Given the description of an element on the screen output the (x, y) to click on. 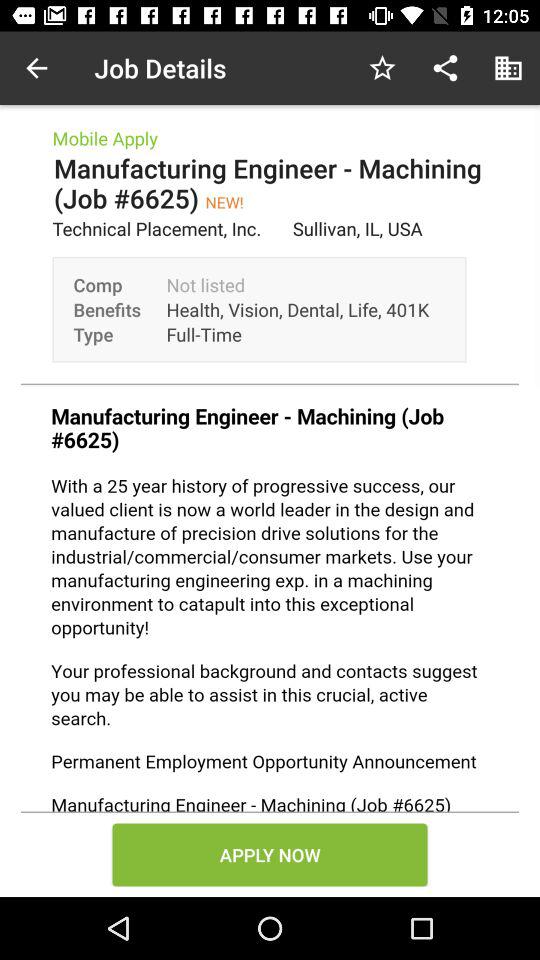
open page (270, 599)
